Given the description of an element on the screen output the (x, y) to click on. 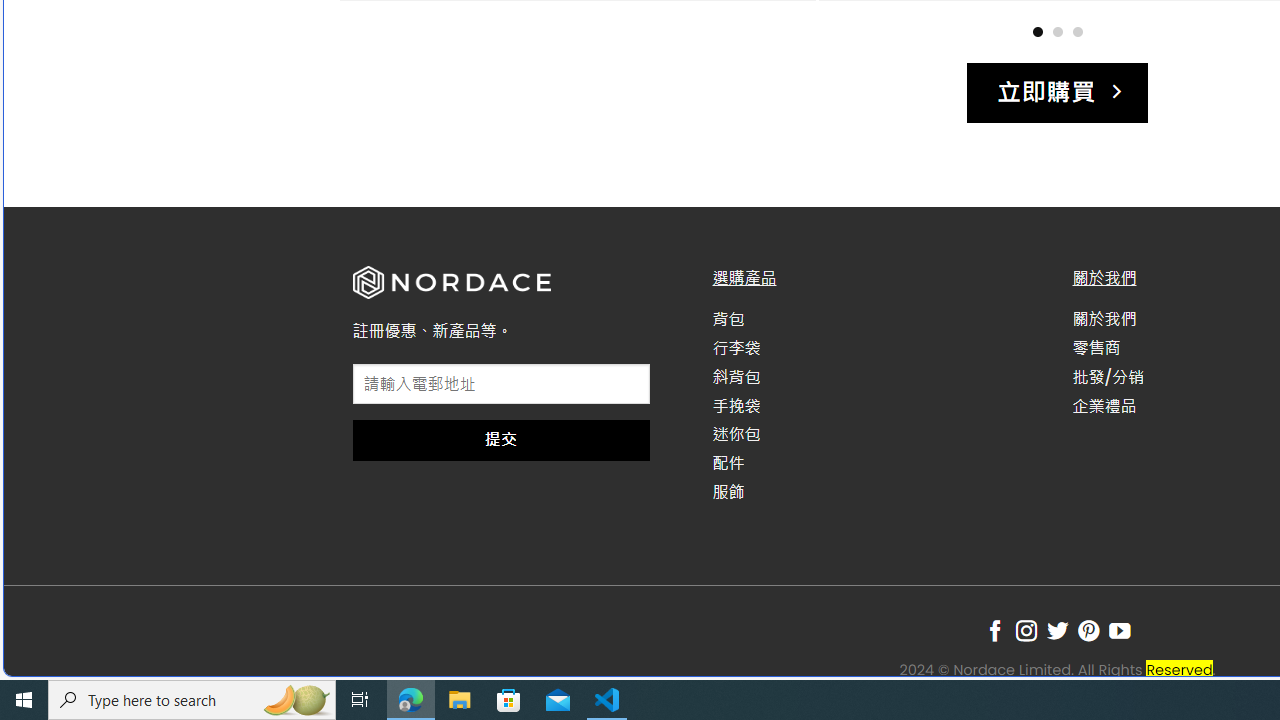
Page dot 1 (1037, 30)
AutomationID: input_4_1 (501, 384)
AutomationID: field_4_1 (501, 386)
Follow on Twitter (1057, 631)
Page dot 2 (1057, 30)
Follow on YouTube (1119, 631)
